Given the description of an element on the screen output the (x, y) to click on. 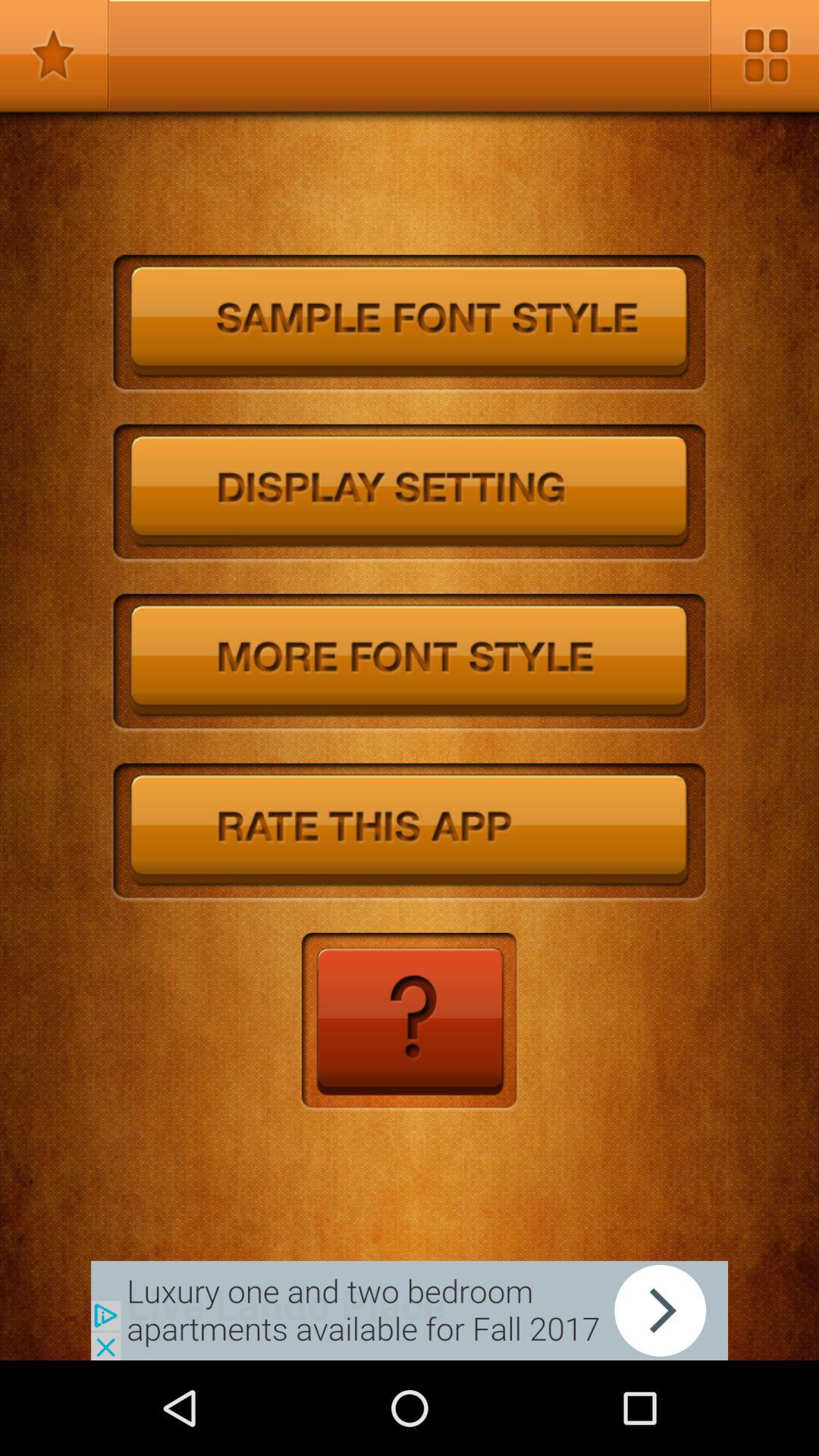
toggle the settio\ngs option (409, 493)
